Given the description of an element on the screen output the (x, y) to click on. 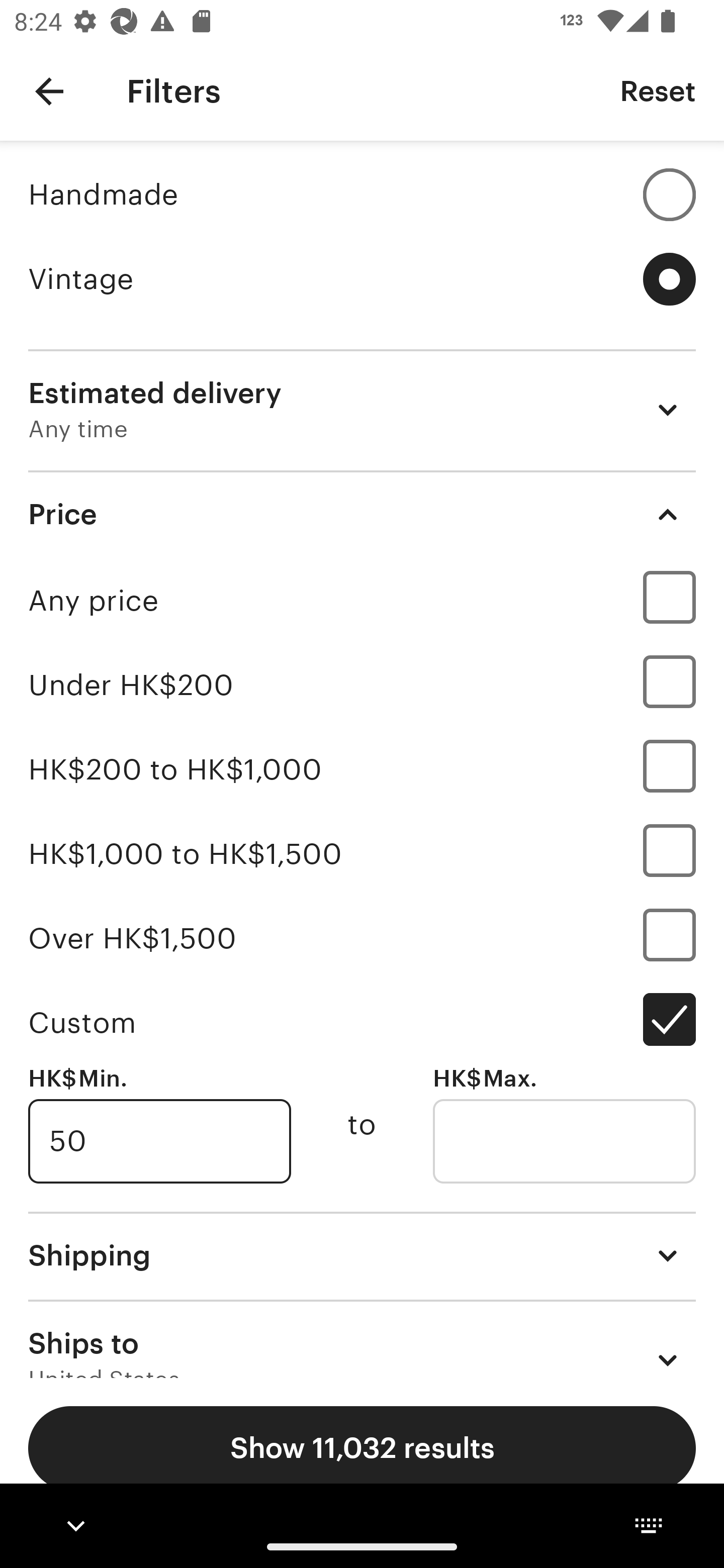
Navigate up (49, 91)
Reset (657, 90)
Handmade (362, 194)
Vintage (362, 278)
Estimated delivery Any time (362, 409)
Price (362, 514)
Any price (362, 600)
Under HK$200 (362, 684)
HK$200 to HK$1,000 (362, 769)
HK$1,000 to HK$1,500 (362, 853)
Over HK$1,500 (362, 937)
Custom (362, 1022)
50 (159, 1141)
Shipping (362, 1255)
Ships to United States (362, 1338)
Show 11,032 results Show 11,220 results (361, 1448)
